Given the description of an element on the screen output the (x, y) to click on. 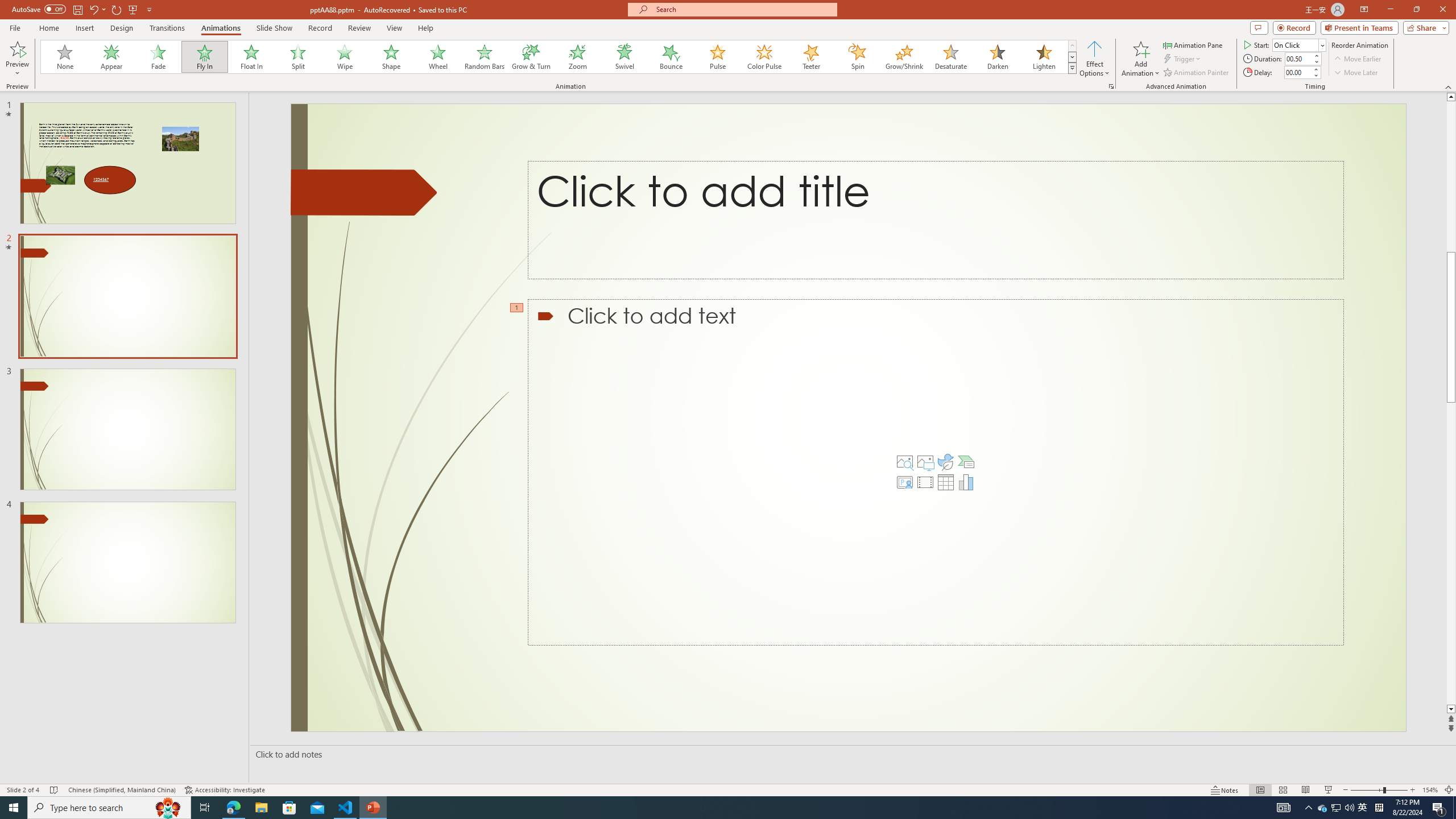
Float In (251, 56)
Wipe (344, 56)
Insert Video (924, 482)
